Given the description of an element on the screen output the (x, y) to click on. 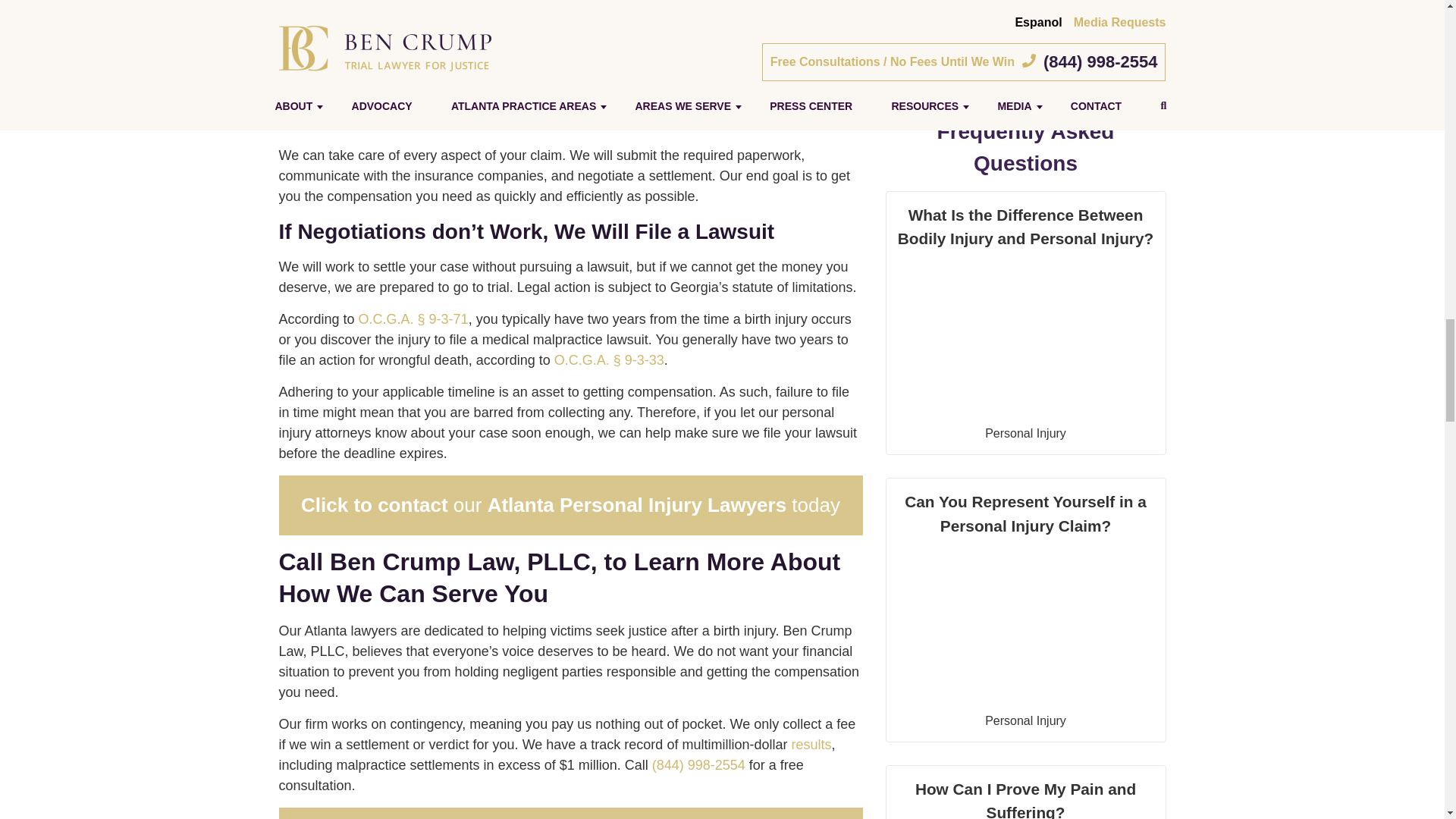
Can You Represent Yourself in a Personal Injury Claim? (1026, 589)
Atlanta Personal Injury Lawyers (636, 504)
